Given the description of an element on the screen output the (x, y) to click on. 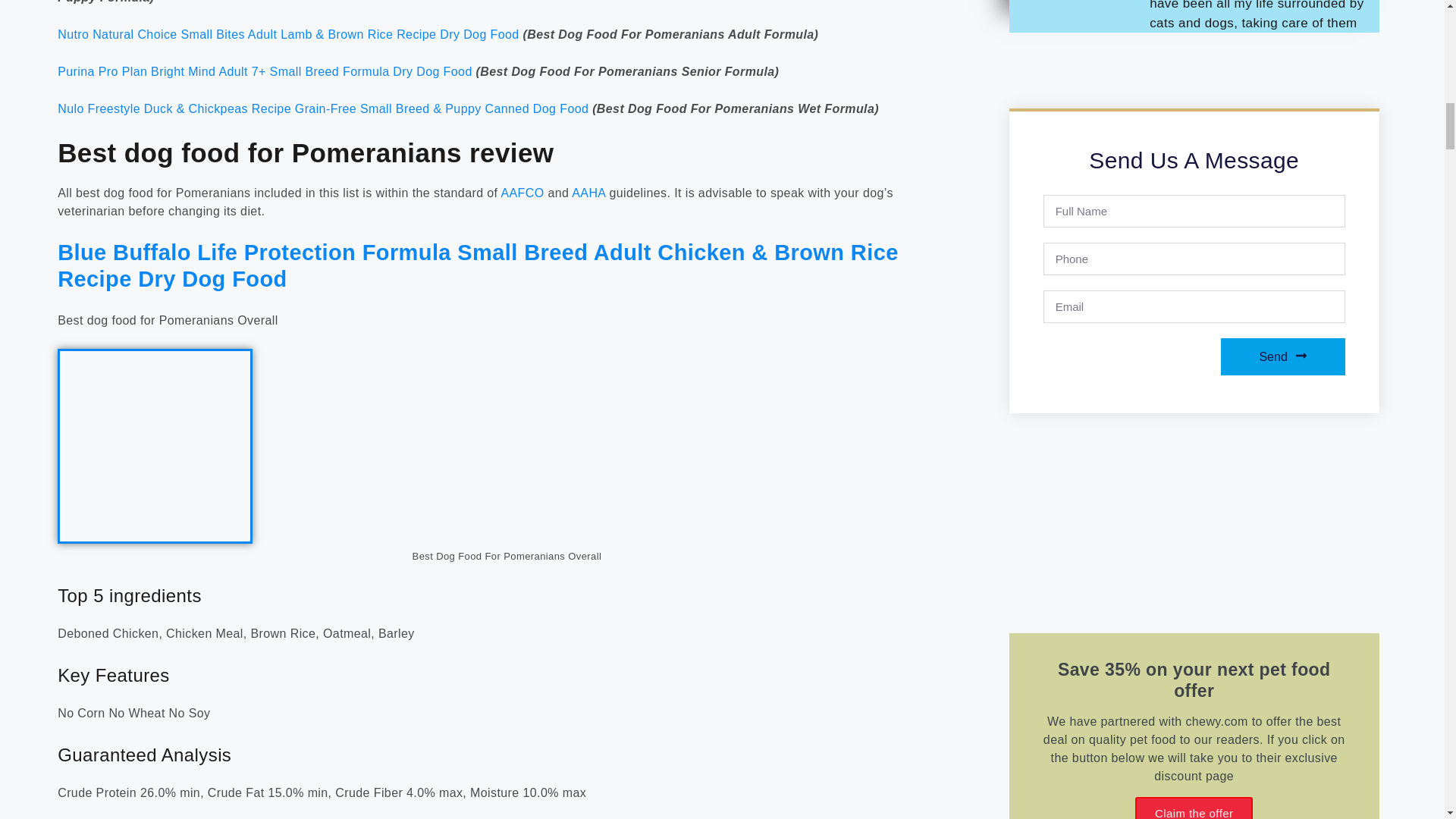
AAHA (588, 192)
AAFCO (521, 192)
